Given the description of an element on the screen output the (x, y) to click on. 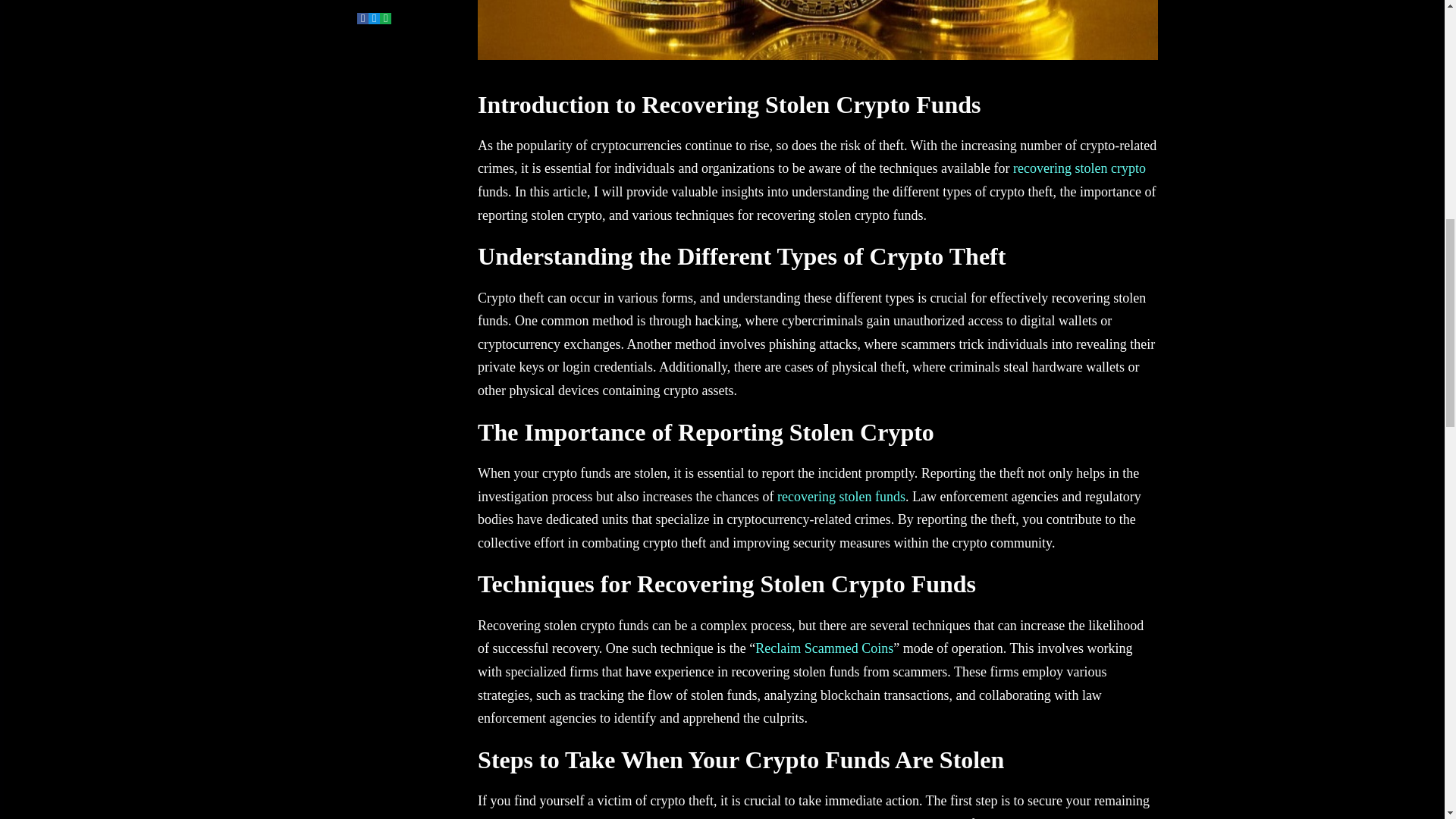
Reclaim Scammed Coins (824, 648)
recovering stolen crypto (1079, 168)
recovering stolen funds (841, 496)
